Given the description of an element on the screen output the (x, y) to click on. 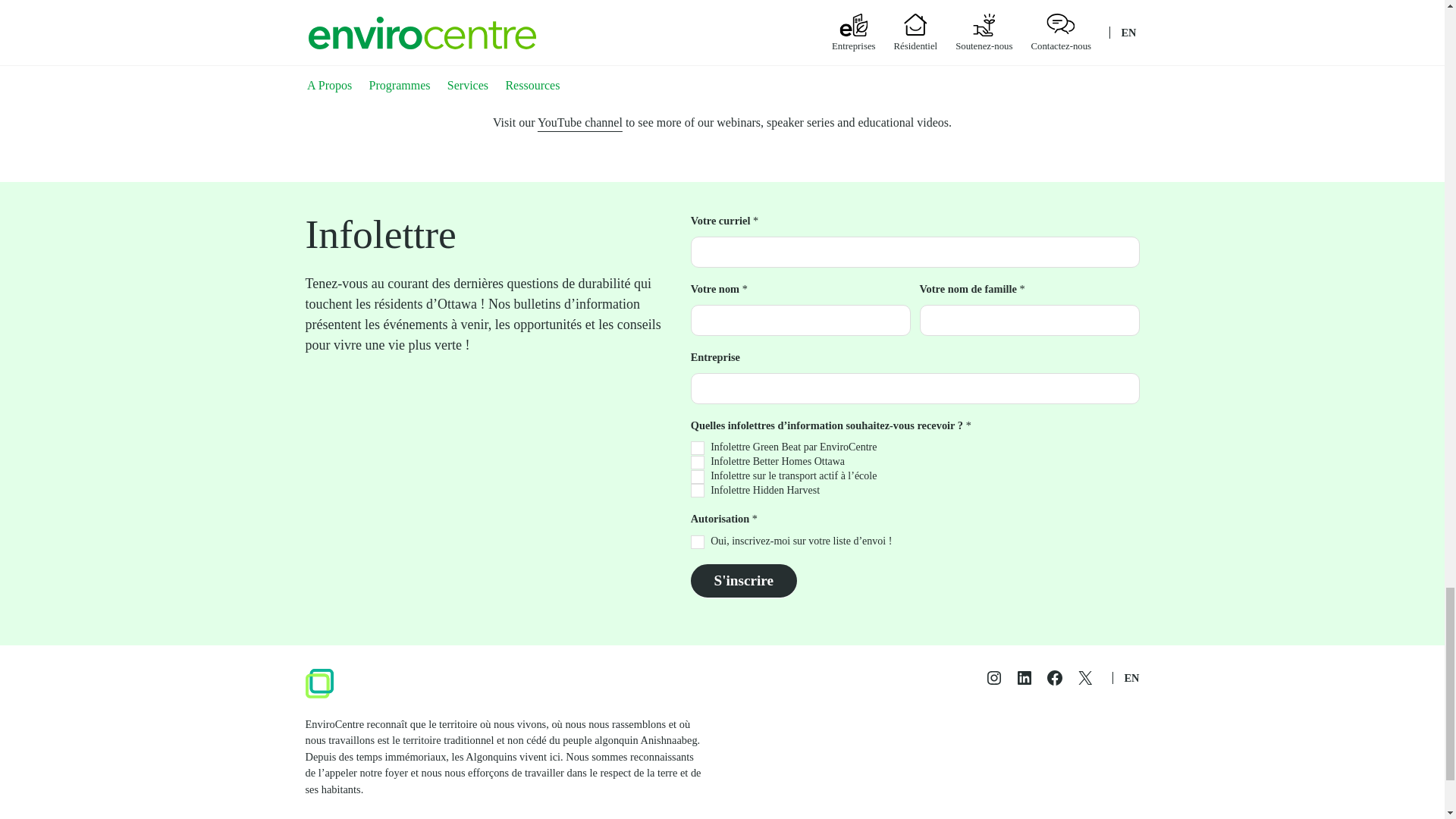
Weekly Green Beat from EnviroCentre (697, 448)
Better Homes Ottawa Newsletter (697, 462)
Neighbourhood Retrofit Round-Up (906, 30)
Yes, put me on your mailing list! (697, 541)
Hidden Harvest Newsletter (697, 490)
School Active Transportation Newsletter (697, 477)
